Given the description of an element on the screen output the (x, y) to click on. 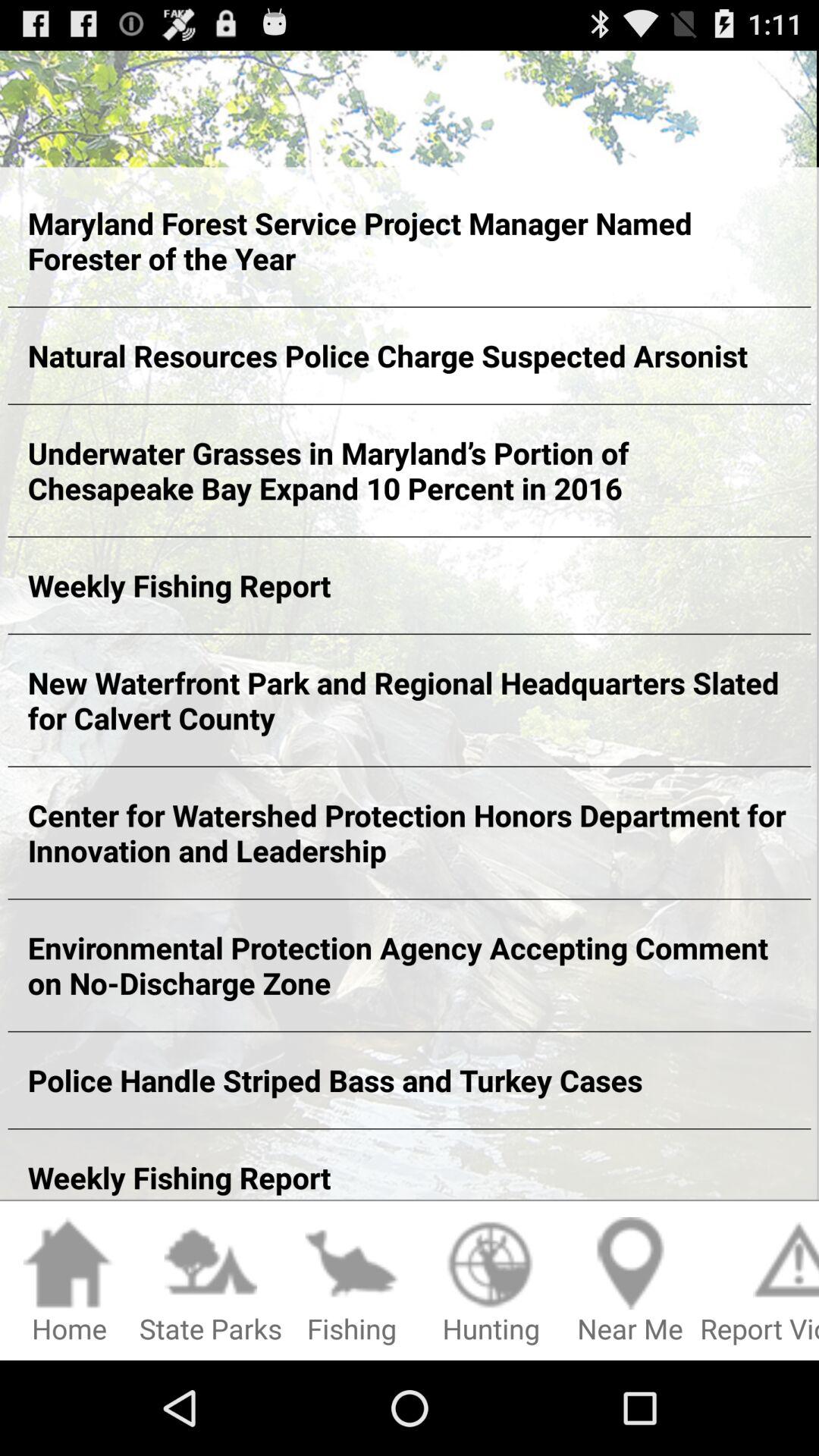
click item next to fishing icon (210, 1282)
